Given the description of an element on the screen output the (x, y) to click on. 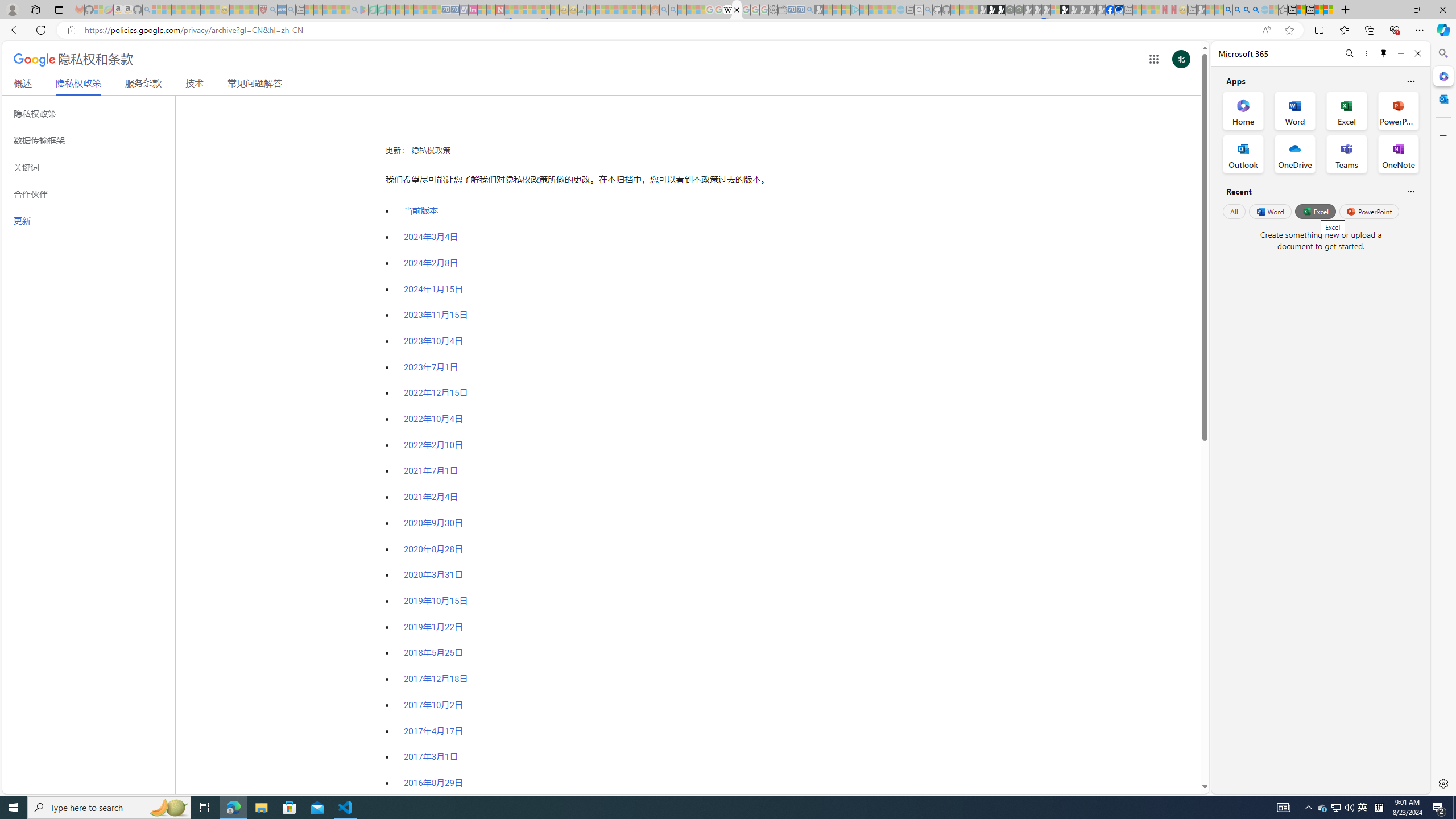
Teams Office App (1346, 154)
Close Outlook pane (1442, 98)
Jobs - lastminute.com Investor Portal - Sleeping (472, 9)
NCL Adult Asthma Inhaler Choice Guideline - Sleeping (281, 9)
Is this helpful? (1410, 191)
Bing AI - Search (1227, 9)
